Given the description of an element on the screen output the (x, y) to click on. 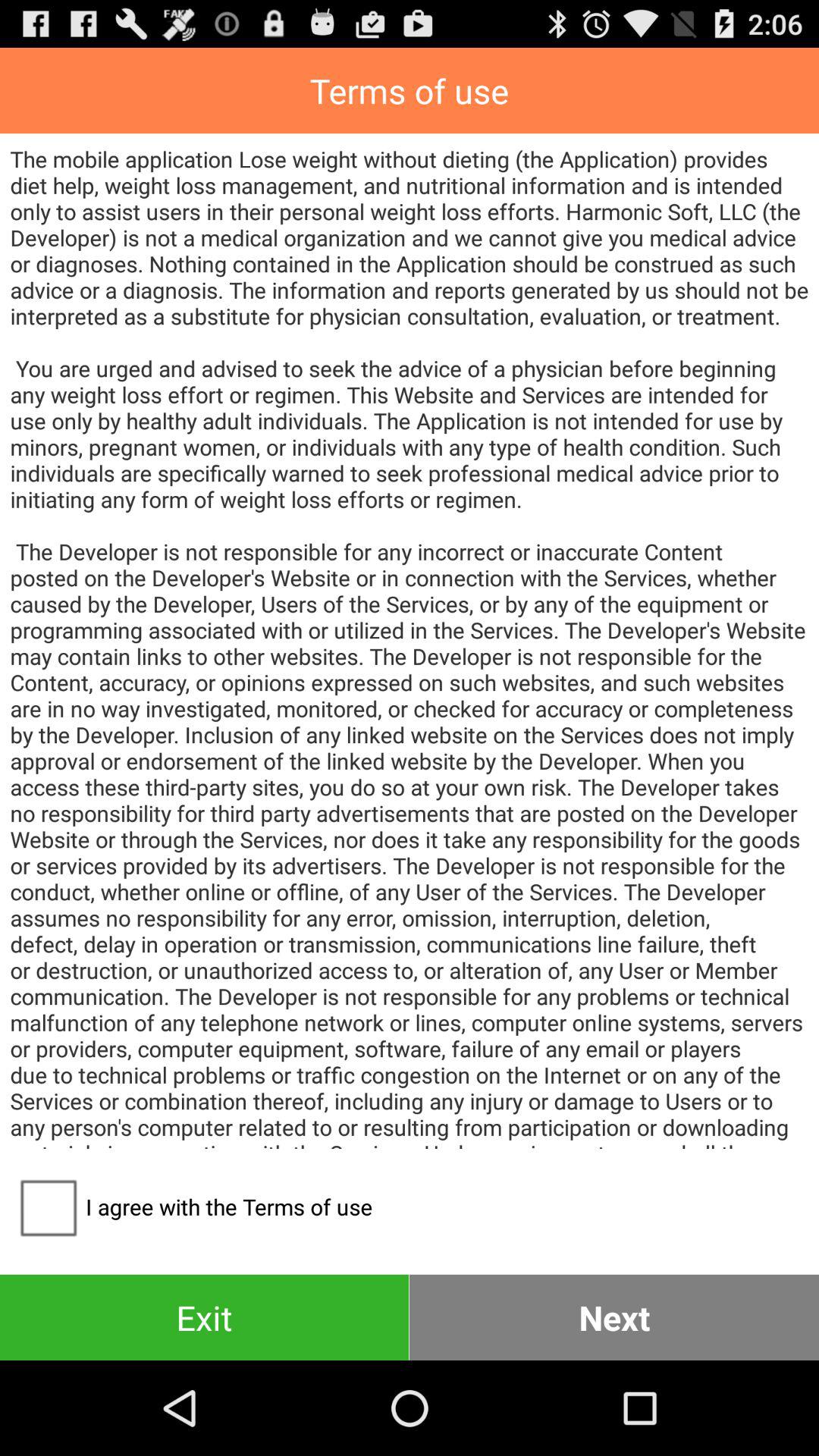
open the icon below the the mobile application item (614, 1317)
